Given the description of an element on the screen output the (x, y) to click on. 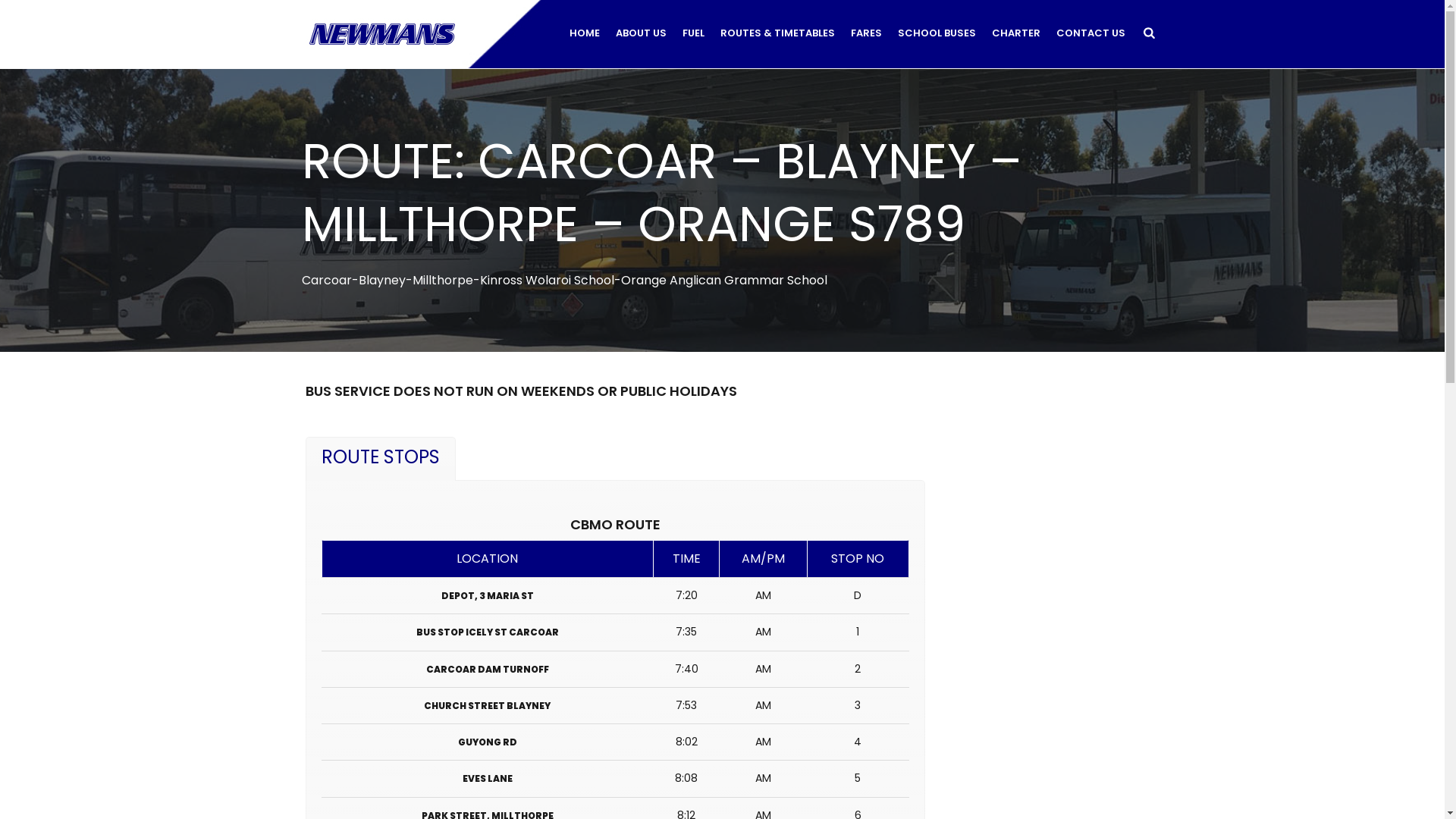
ROUTE STOPS Element type: text (379, 458)
